Given the description of an element on the screen output the (x, y) to click on. 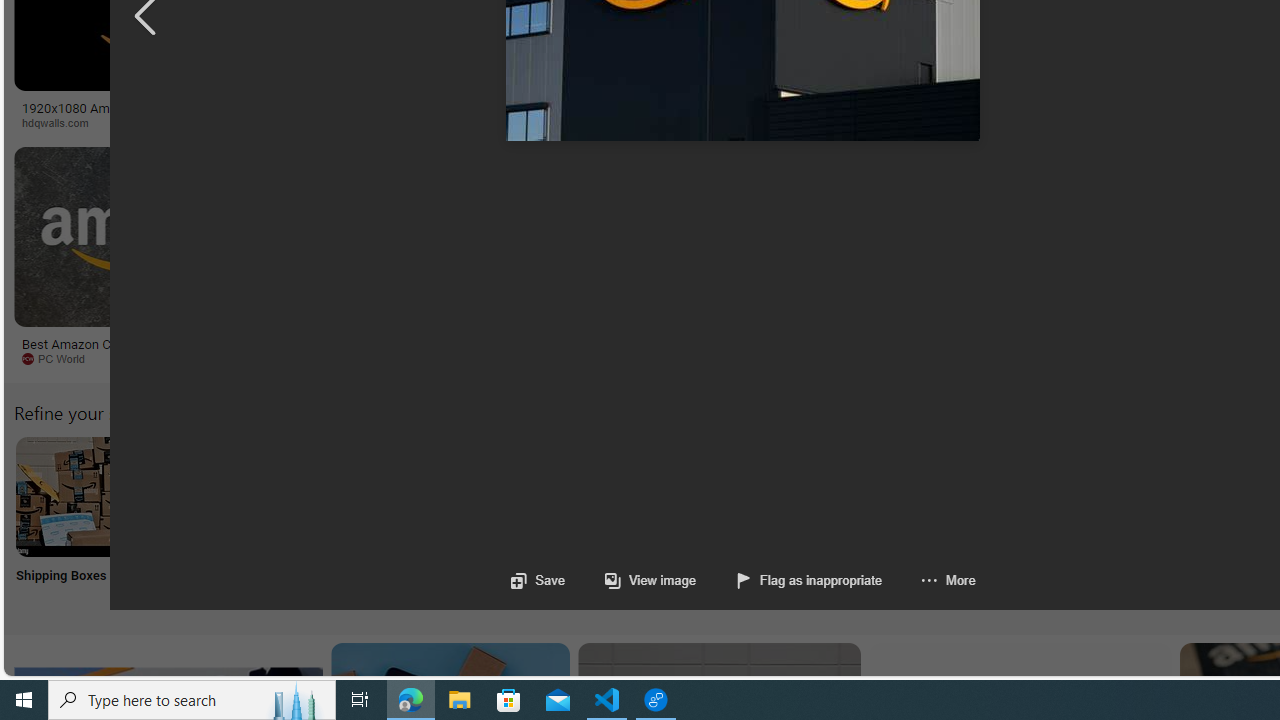
Retail Store (867, 521)
Amazon Log into My Account Log into My Account (472, 521)
View image (650, 580)
GOBankingRates (396, 121)
The Verge (335, 358)
Amazon Jobs Near Me Jobs Near Me (604, 521)
manilashaker.com (1162, 358)
Long Island Press (1043, 121)
View image (630, 580)
